Given the description of an element on the screen output the (x, y) to click on. 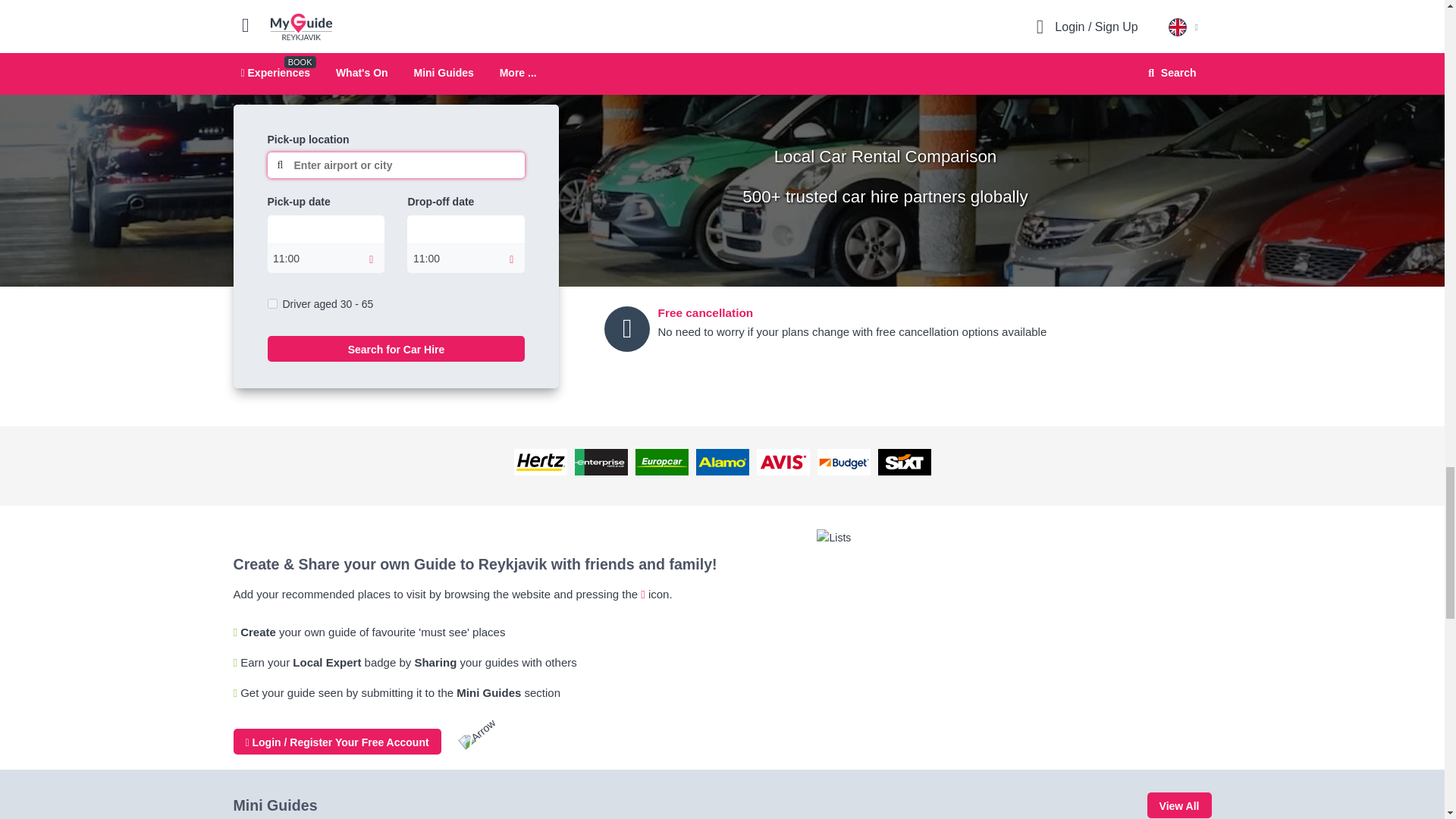
on (271, 303)
